Given the description of an element on the screen output the (x, y) to click on. 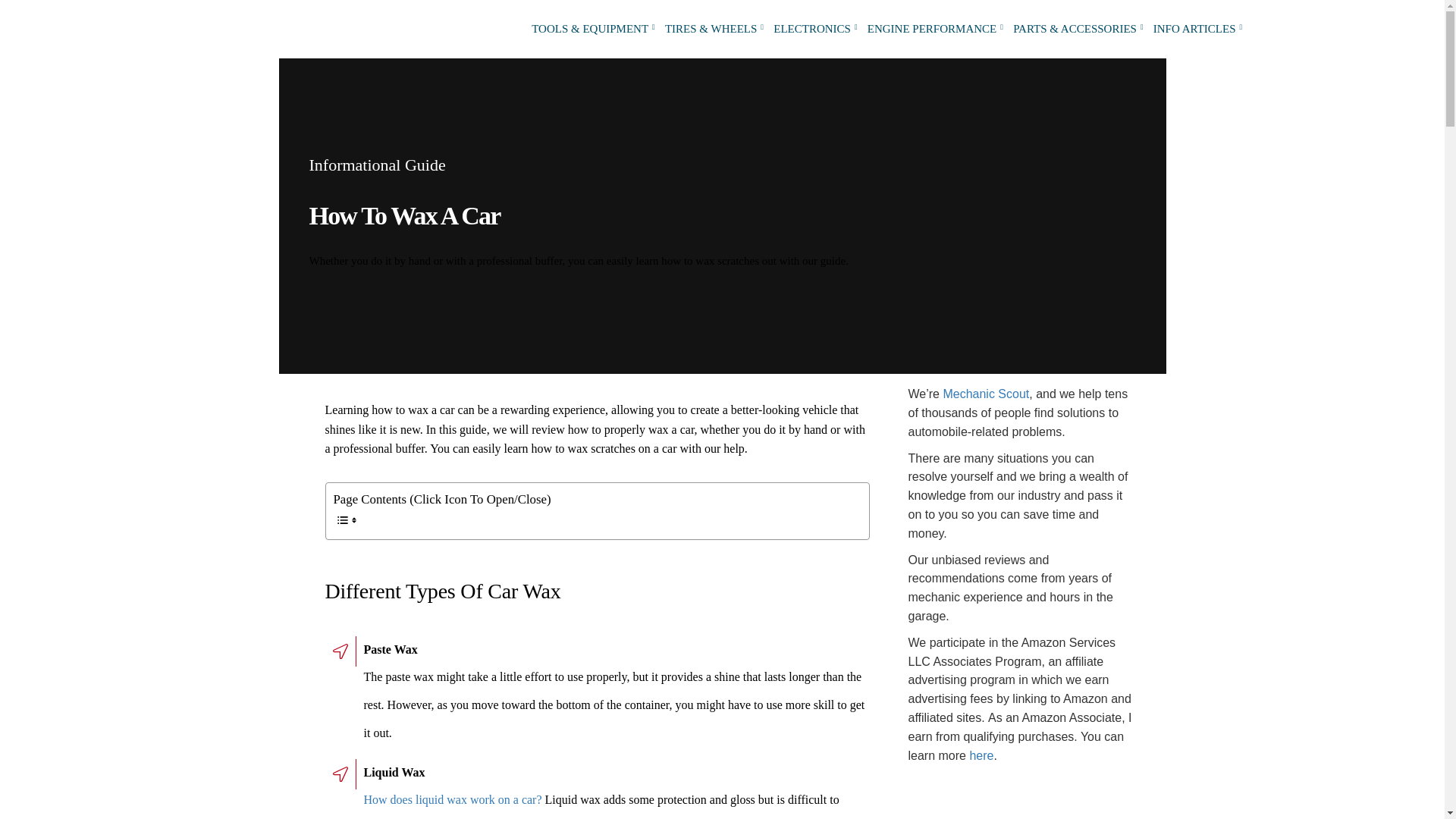
ENGINE PERFORMANCE (931, 29)
ELECTRONICS (811, 29)
INFO ARTICLES (1194, 29)
Restore dead batteries at home (1021, 807)
